Given the description of an element on the screen output the (x, y) to click on. 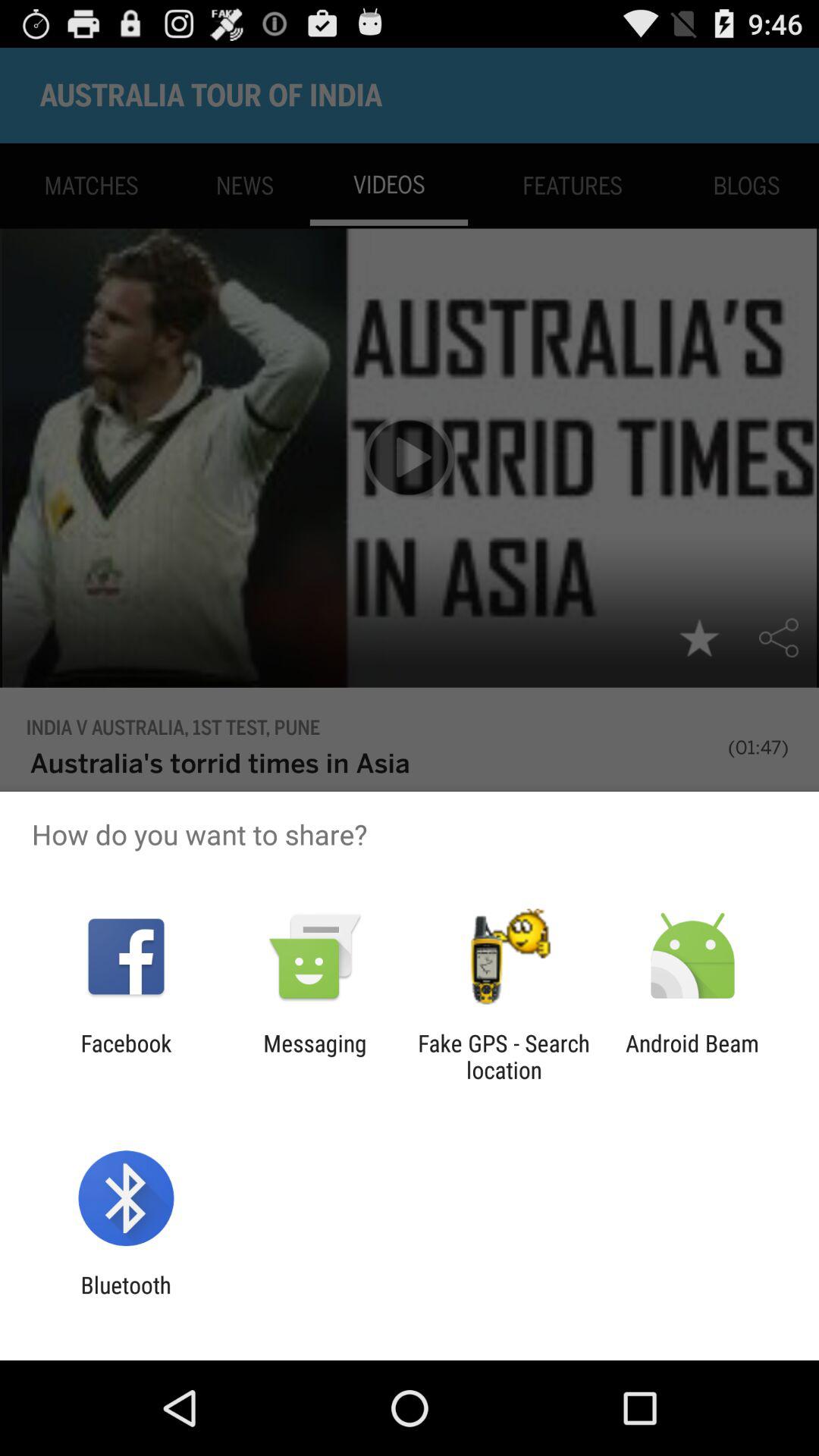
jump until android beam (692, 1056)
